Given the description of an element on the screen output the (x, y) to click on. 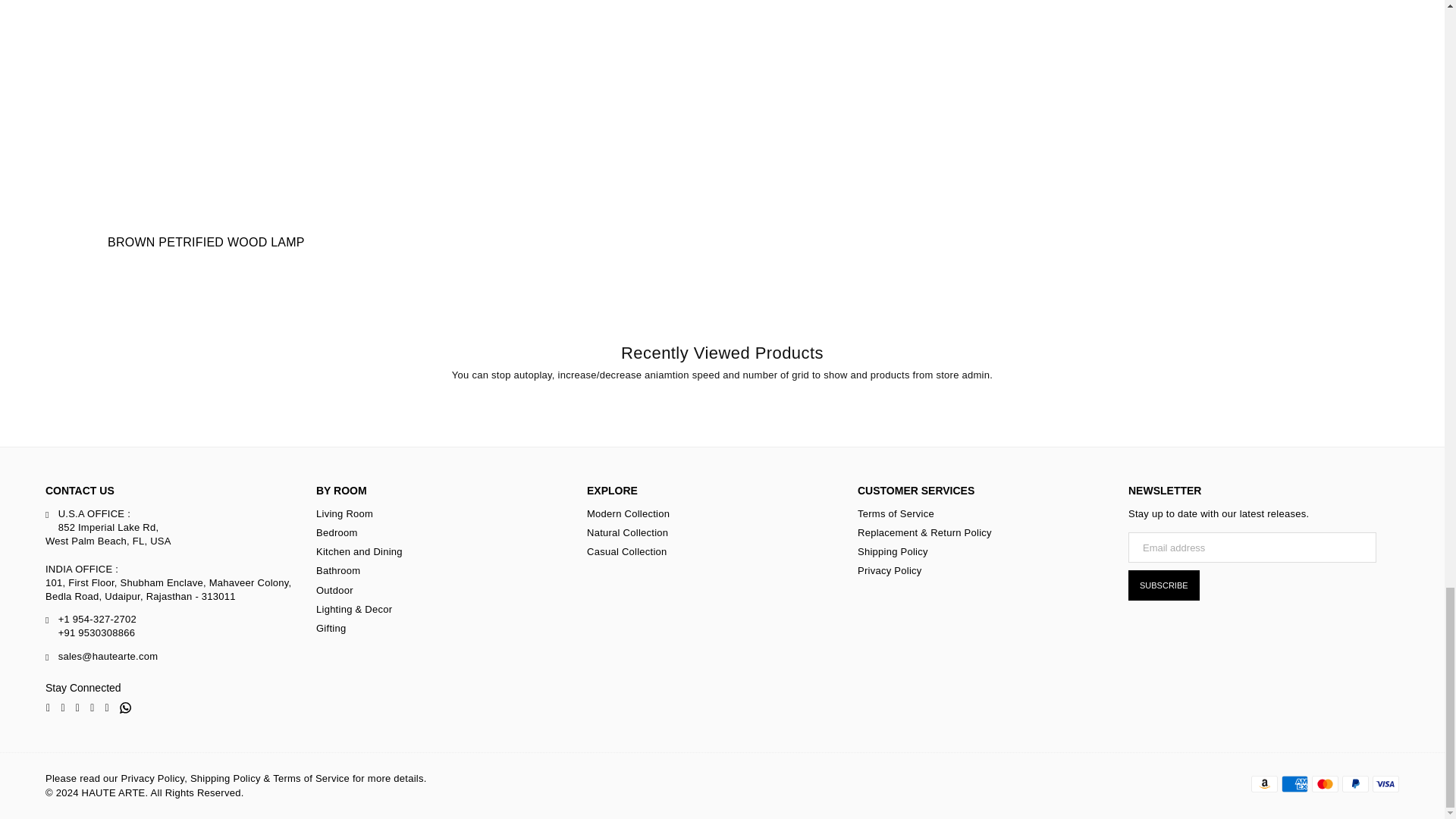
Amazon (1264, 783)
Mastercard (1324, 783)
PayPal (1355, 783)
American Express (1294, 783)
Visa (1386, 783)
